Given the description of an element on the screen output the (x, y) to click on. 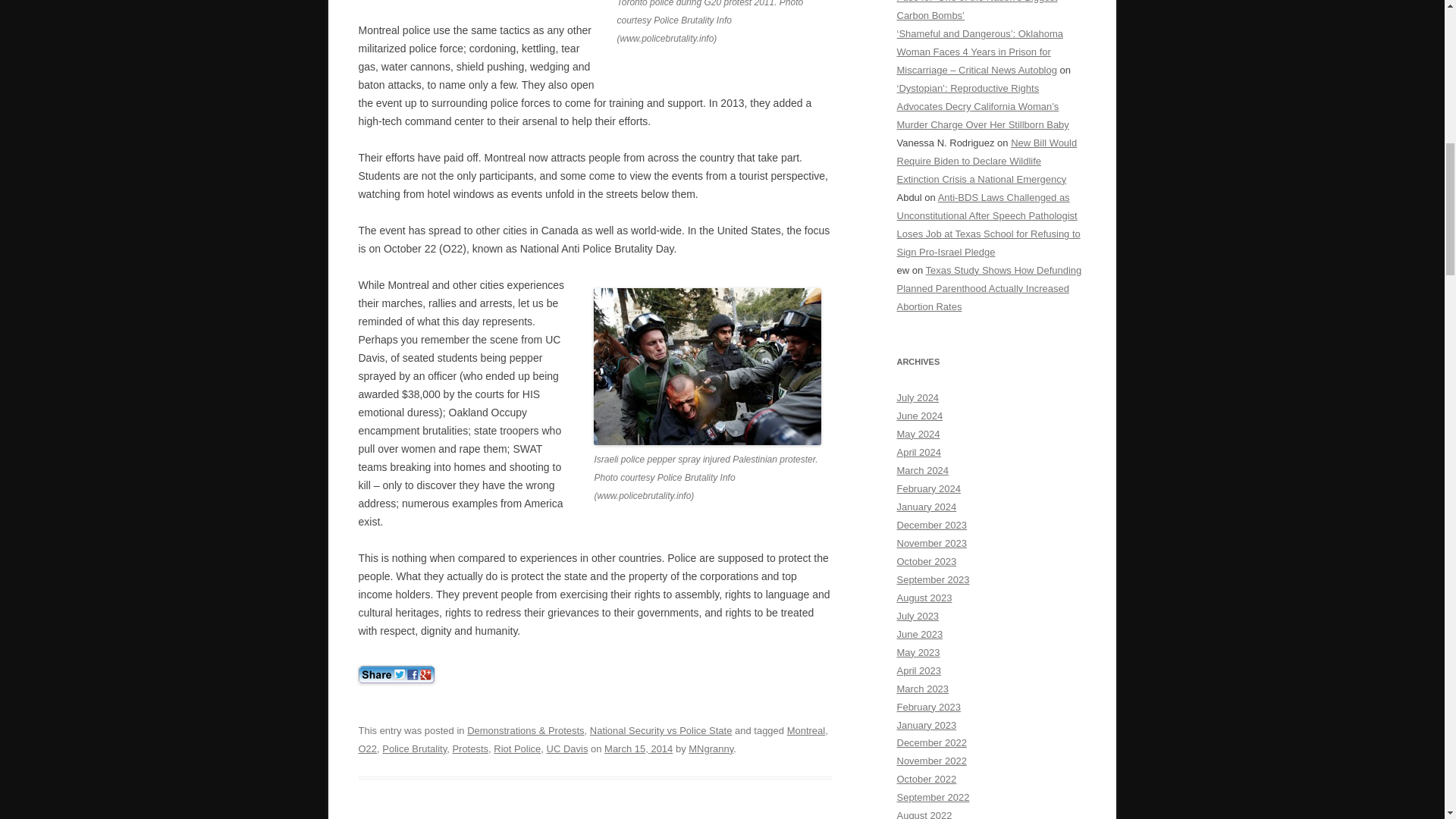
UC Davis (567, 748)
July 2024 (917, 397)
MNgranny (710, 748)
Riot Police (516, 748)
7:28 am (638, 748)
National Security vs Police State (660, 730)
March 15, 2014 (638, 748)
Protests (469, 748)
View all posts by MNgranny (710, 748)
Police Brutality (413, 748)
O22 (367, 748)
June 2024 (919, 415)
